Given the description of an element on the screen output the (x, y) to click on. 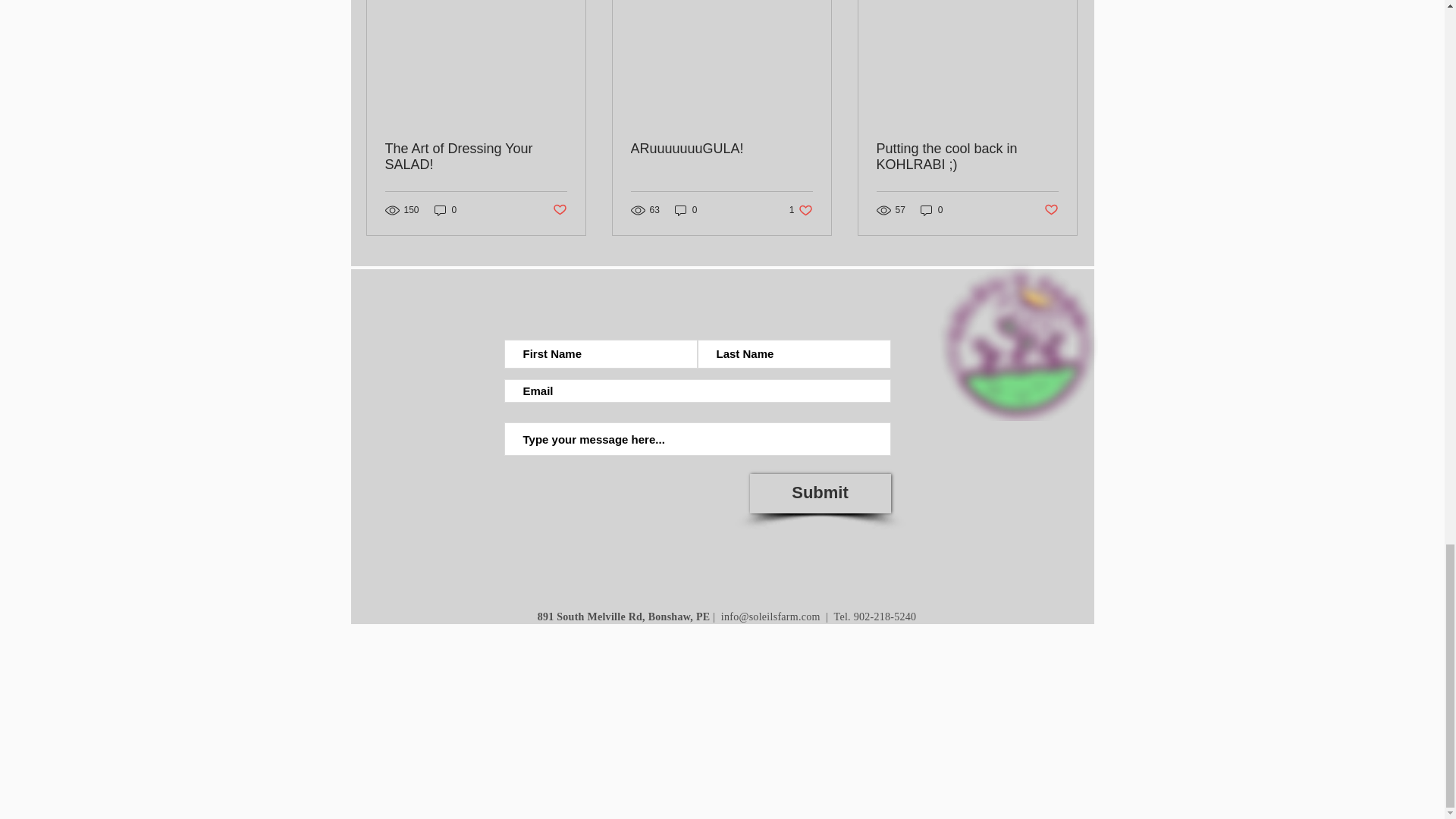
The Art of Dressing Your SALAD! (476, 156)
0 (685, 210)
Submit (800, 210)
ARuuuuuuuGULA! (819, 492)
0 (721, 148)
Post not marked as liked (931, 210)
0 (558, 209)
Post not marked as liked (445, 210)
